Given the description of an element on the screen output the (x, y) to click on. 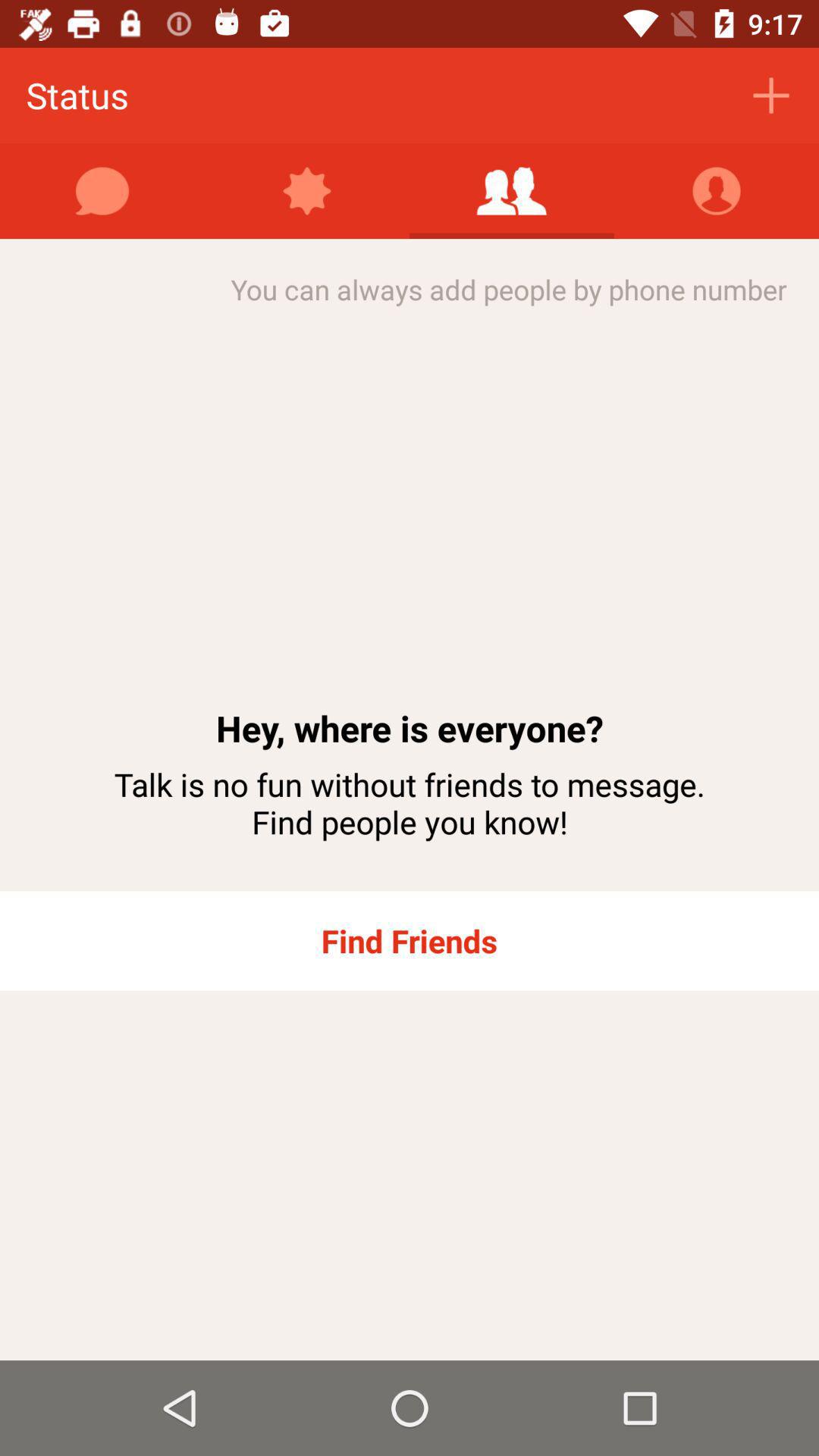
launch icon above the you can always (716, 190)
